Given the description of an element on the screen output the (x, y) to click on. 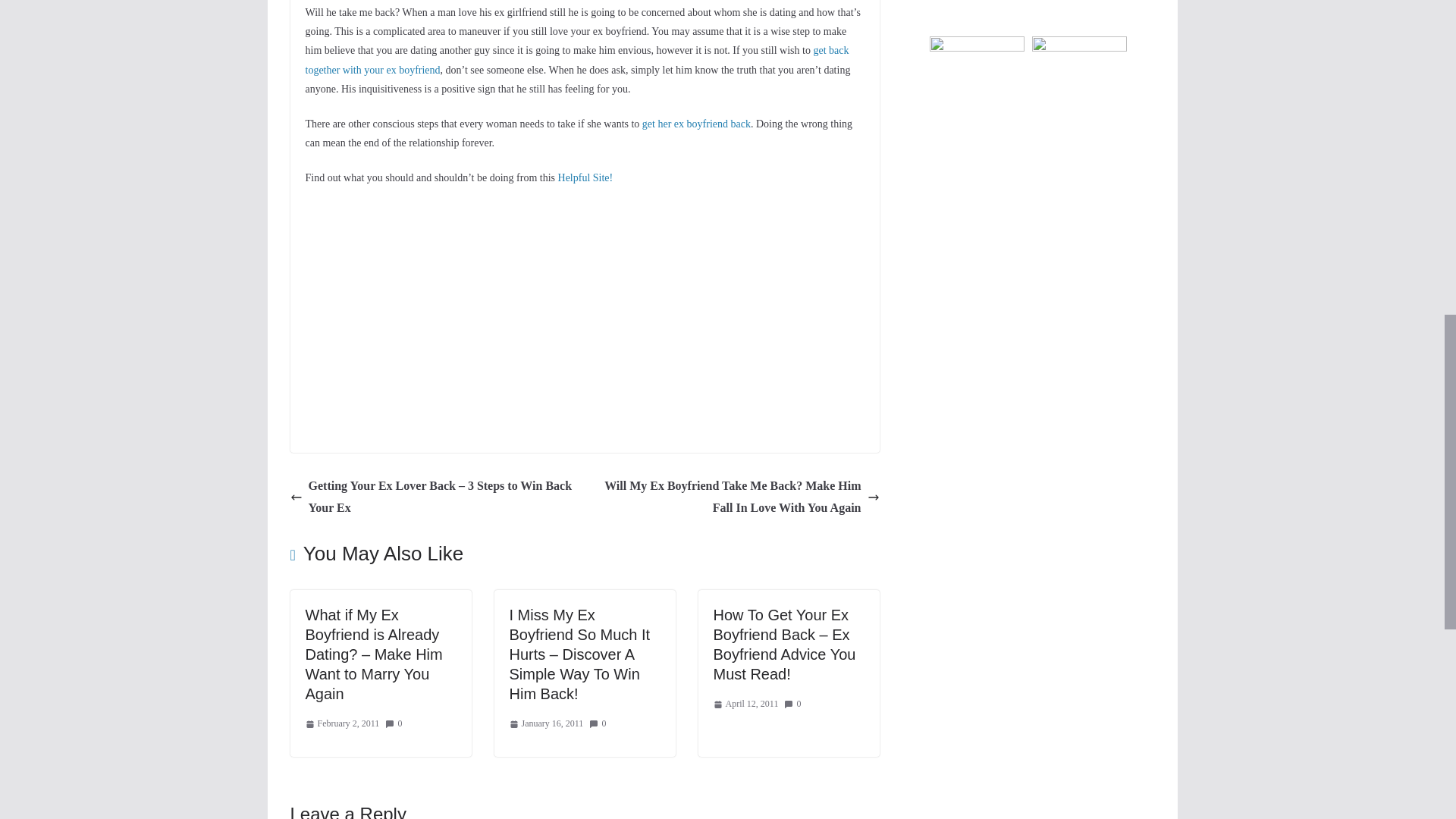
get back together with your ex boyfriend (576, 60)
Helpful Site! (584, 177)
get her ex boyfriend back (696, 123)
12:02 am (341, 723)
11:51 pm (546, 723)
